Given the description of an element on the screen output the (x, y) to click on. 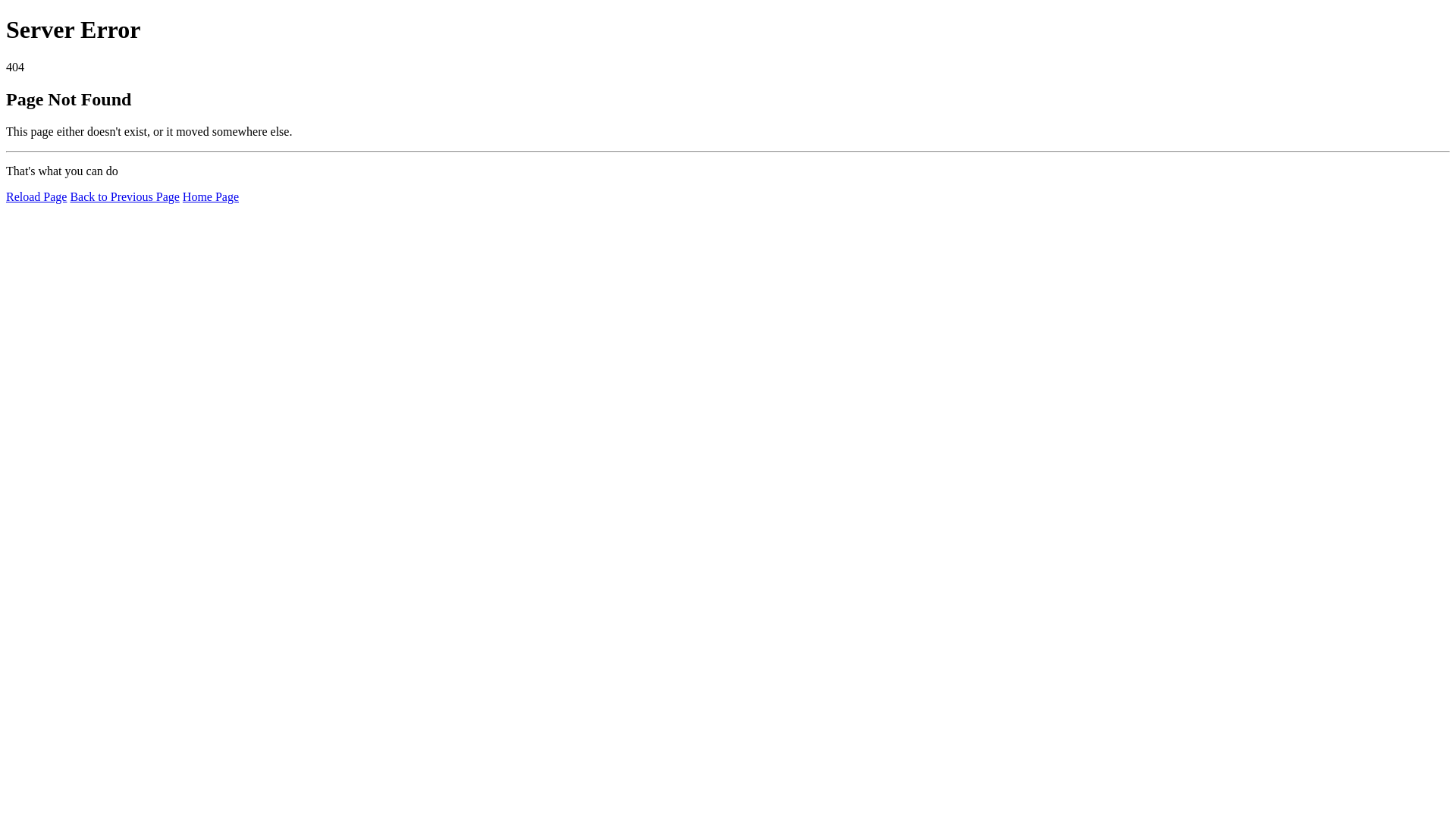
Home Page Element type: text (210, 196)
Back to Previous Page Element type: text (123, 196)
Reload Page Element type: text (36, 196)
